Given the description of an element on the screen output the (x, y) to click on. 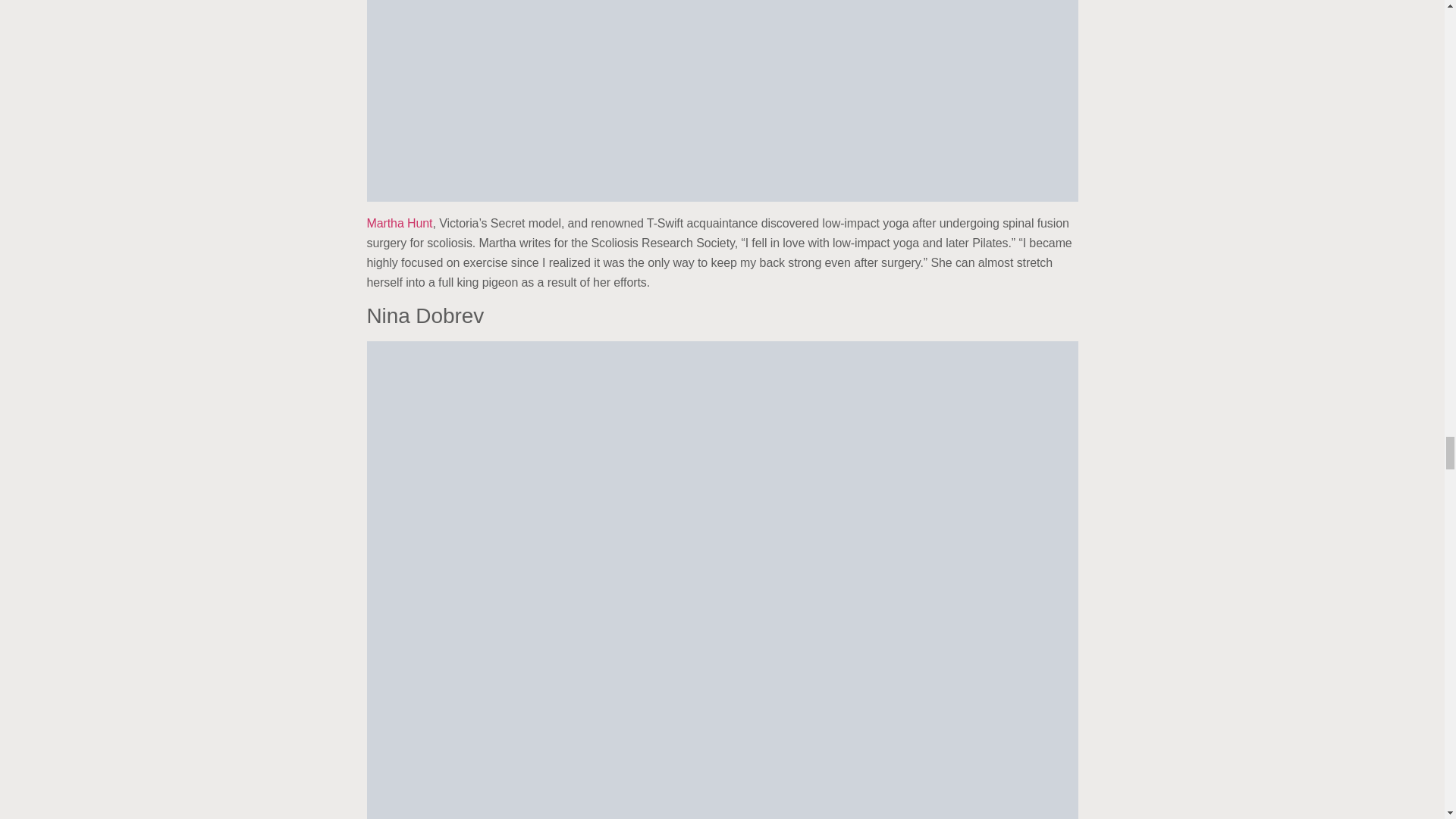
Martha Hunt (399, 223)
